Given the description of an element on the screen output the (x, y) to click on. 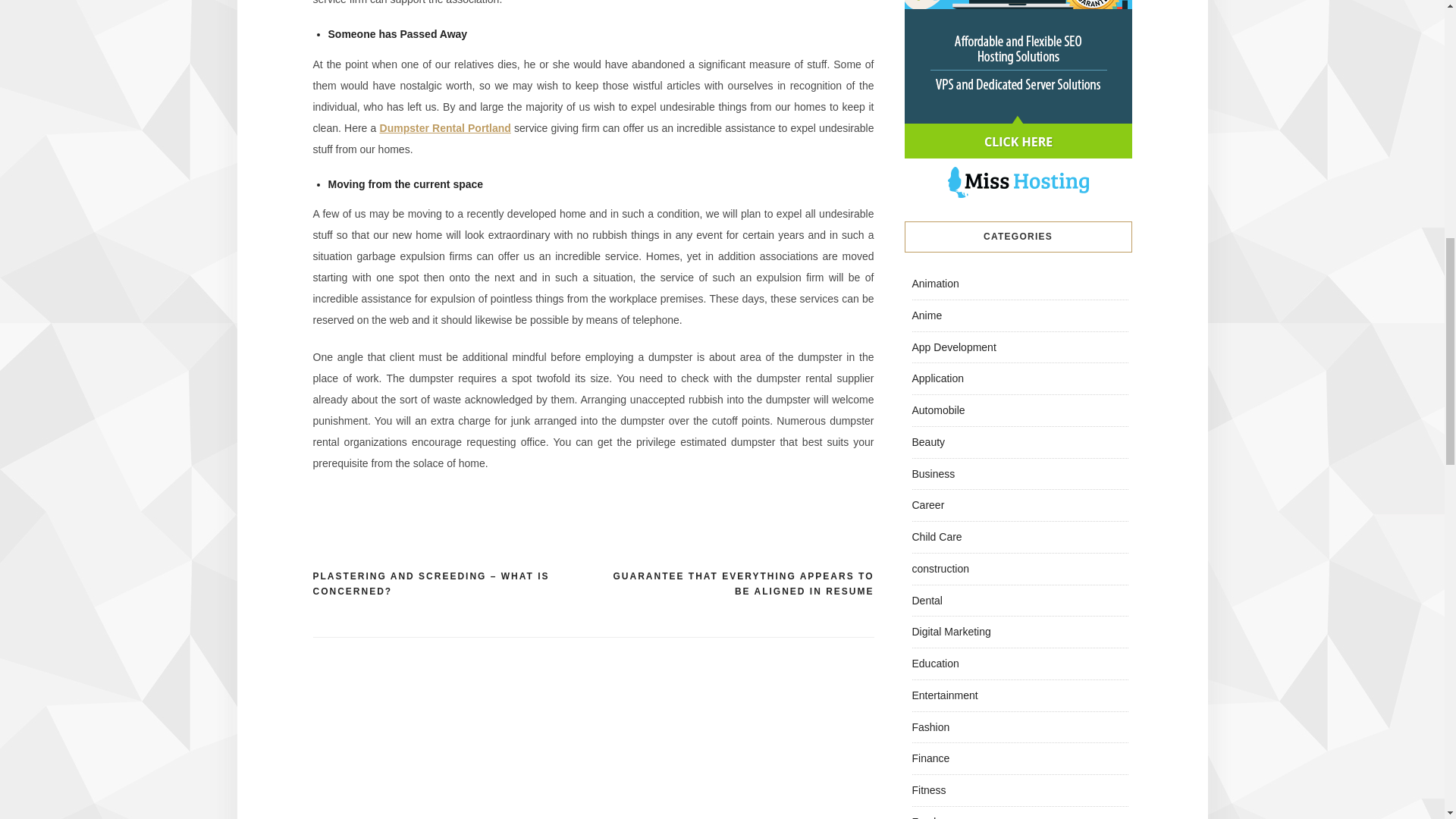
Career (927, 504)
Business (933, 472)
Education (934, 663)
construction (939, 568)
App Development (953, 346)
Entertainment (943, 695)
Fashion (930, 726)
Automobile (937, 410)
GUARANTEE THAT EVERYTHING APPEARS TO BE ALIGNED IN RESUME (732, 583)
Dumpster Rental Portland (445, 128)
